Given the description of an element on the screen output the (x, y) to click on. 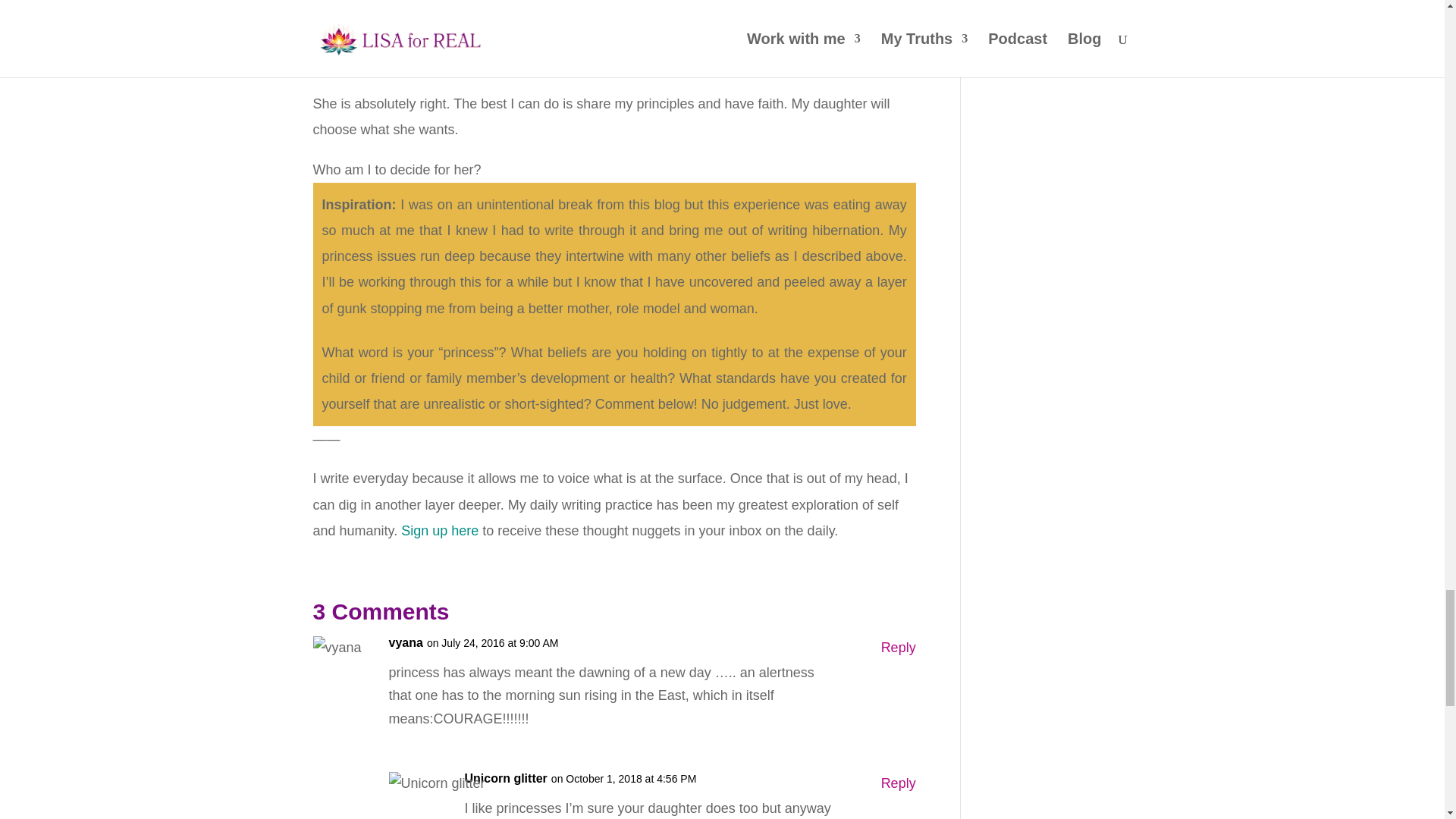
Sign up here (440, 530)
vyana (405, 643)
Reply (897, 783)
Reply (897, 648)
